Given the description of an element on the screen output the (x, y) to click on. 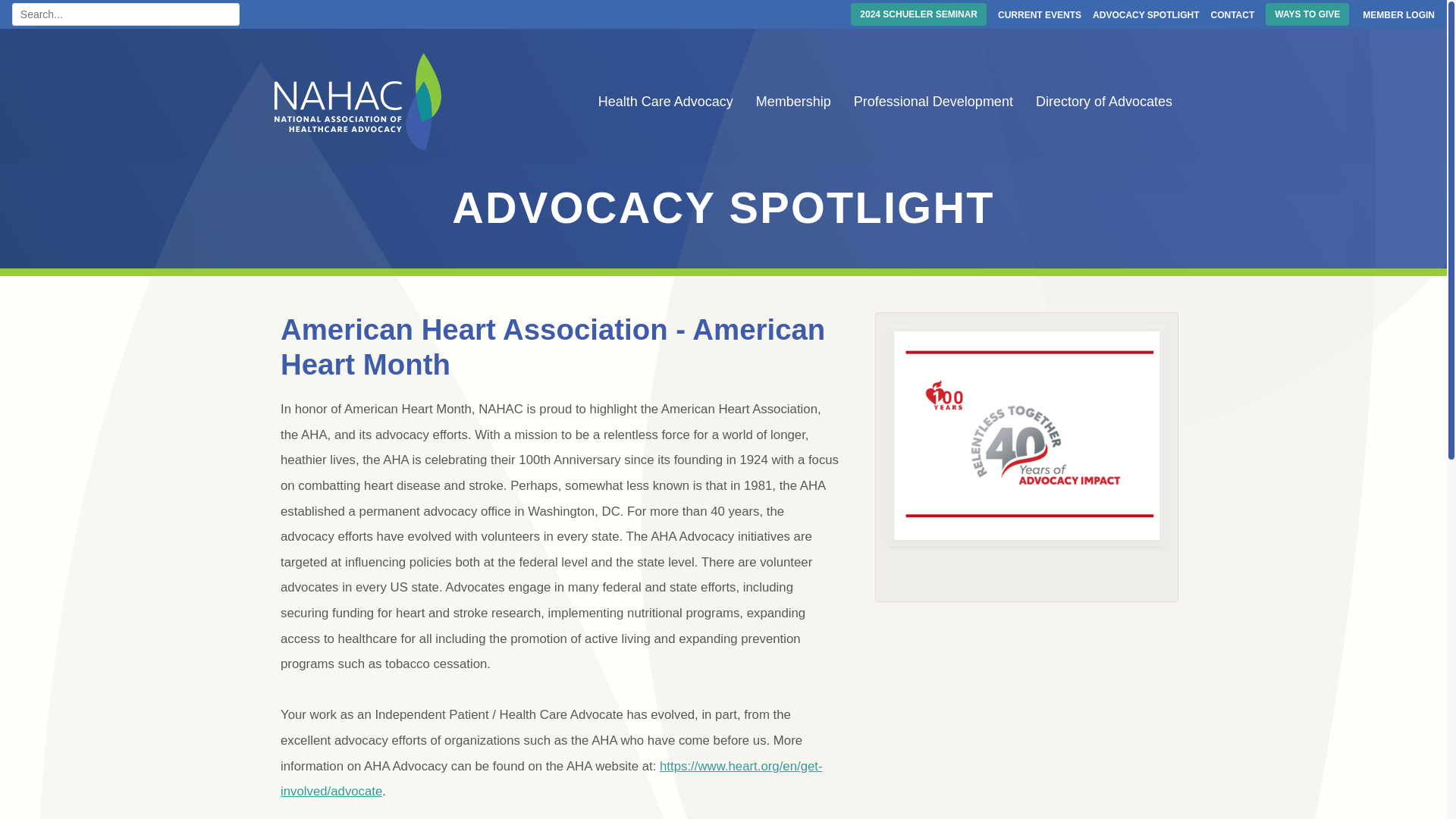
MEMBER LOGIN (1396, 14)
2024 SCHUELER SEMINAR (918, 14)
CONTACT (1233, 14)
Professional Development (935, 101)
CURRENT EVENTS (1039, 14)
WAYS TO GIVE (1307, 14)
ADVOCACY SPOTLIGHT (1145, 14)
Health Care Advocacy (668, 101)
Directory of Advocates (1103, 101)
Return Home (358, 101)
Membership (795, 101)
